Given the description of an element on the screen output the (x, y) to click on. 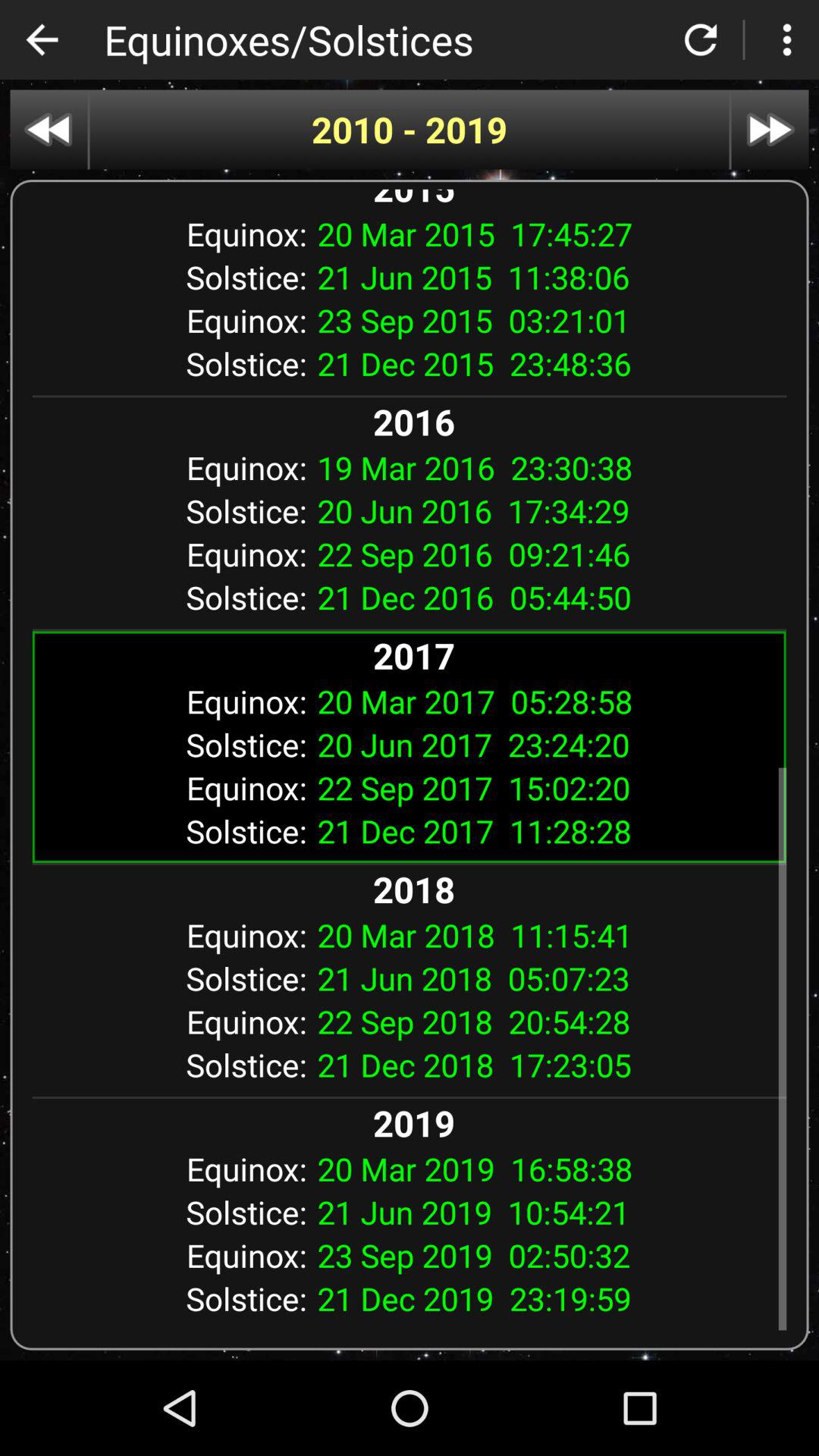
scroll to the 2010 - 2019 app (409, 129)
